Given the description of an element on the screen output the (x, y) to click on. 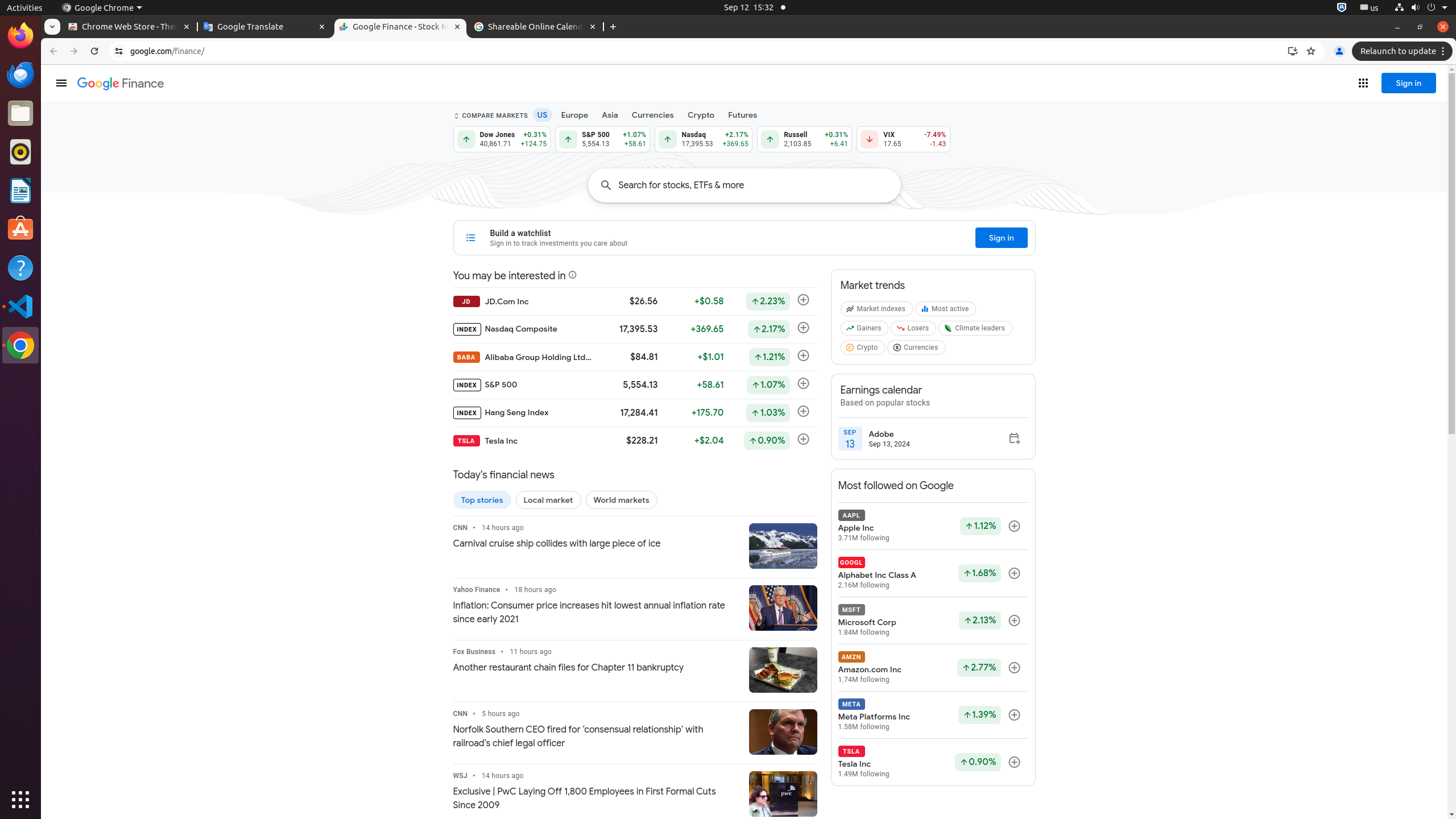
Google Finance - Stock Market Prices, Real-time Quotes & Business News Element type: page-tab (400, 26)
LibreOffice Writer Element type: push-button (20, 190)
Sign in Element type: link (1408, 82)
MSFT Microsoft Corp 1.84M following Up by 2.13% Follow Element type: link (932, 620)
Crypto Element type: page-tab (700, 114)
